Given the description of an element on the screen output the (x, y) to click on. 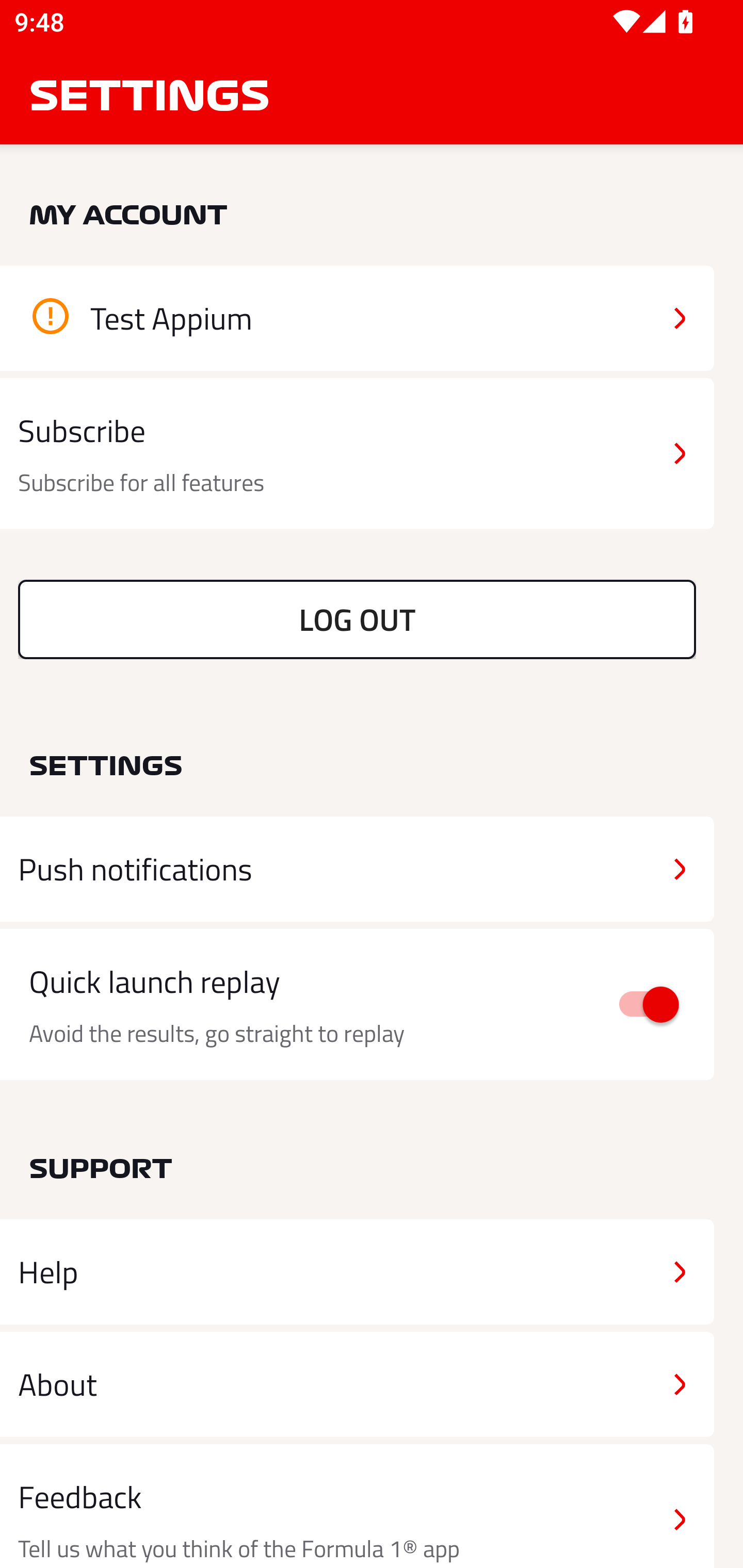
Test Appium (357, 317)
Subscribe Subscribe for all features (357, 453)
LOG OUT (356, 619)
Push notifications (357, 868)
Help (357, 1271)
About (357, 1383)
